Given the description of an element on the screen output the (x, y) to click on. 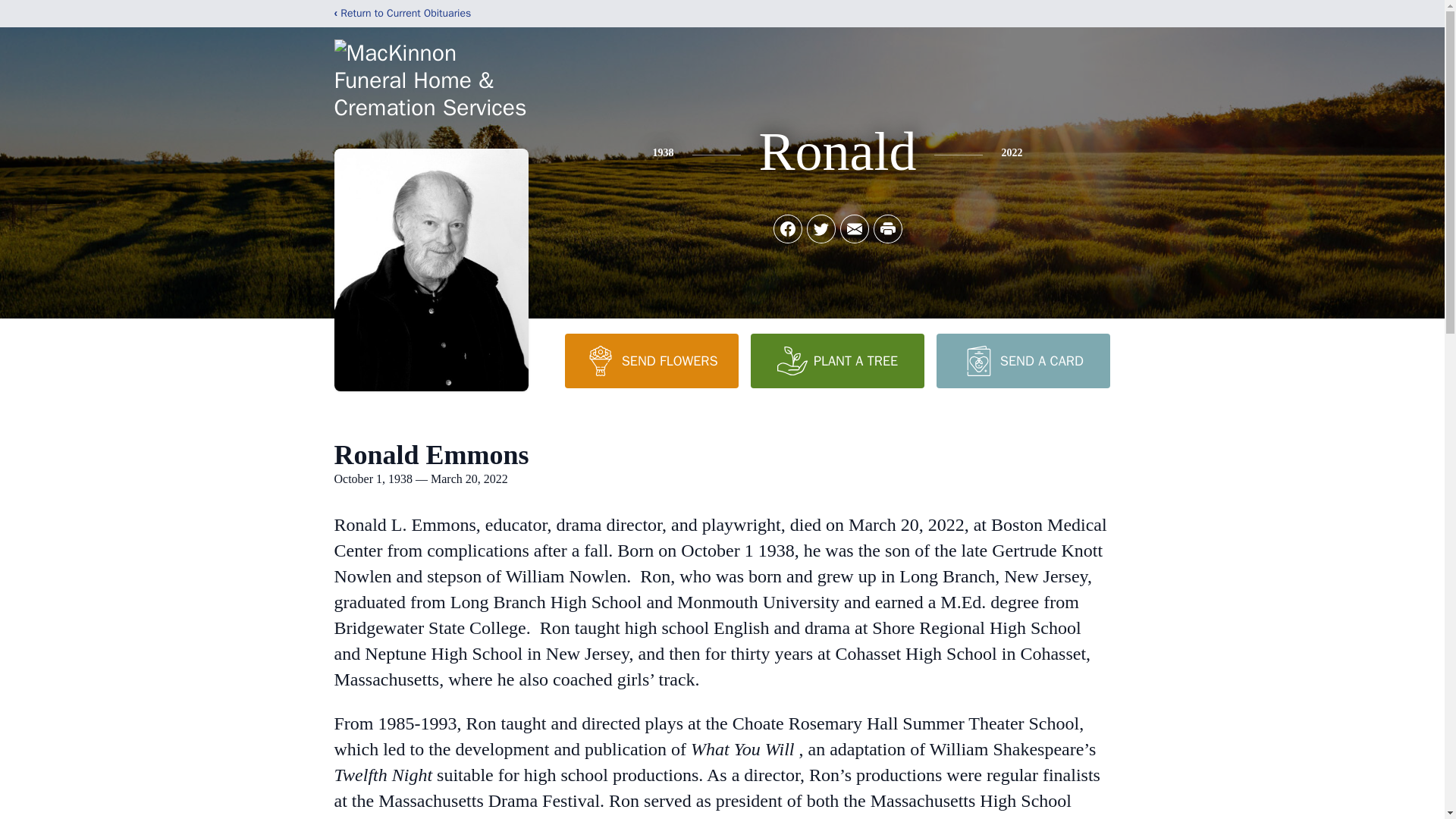
PLANT A TREE (837, 360)
SEND FLOWERS (651, 360)
SEND A CARD (1022, 360)
